Given the description of an element on the screen output the (x, y) to click on. 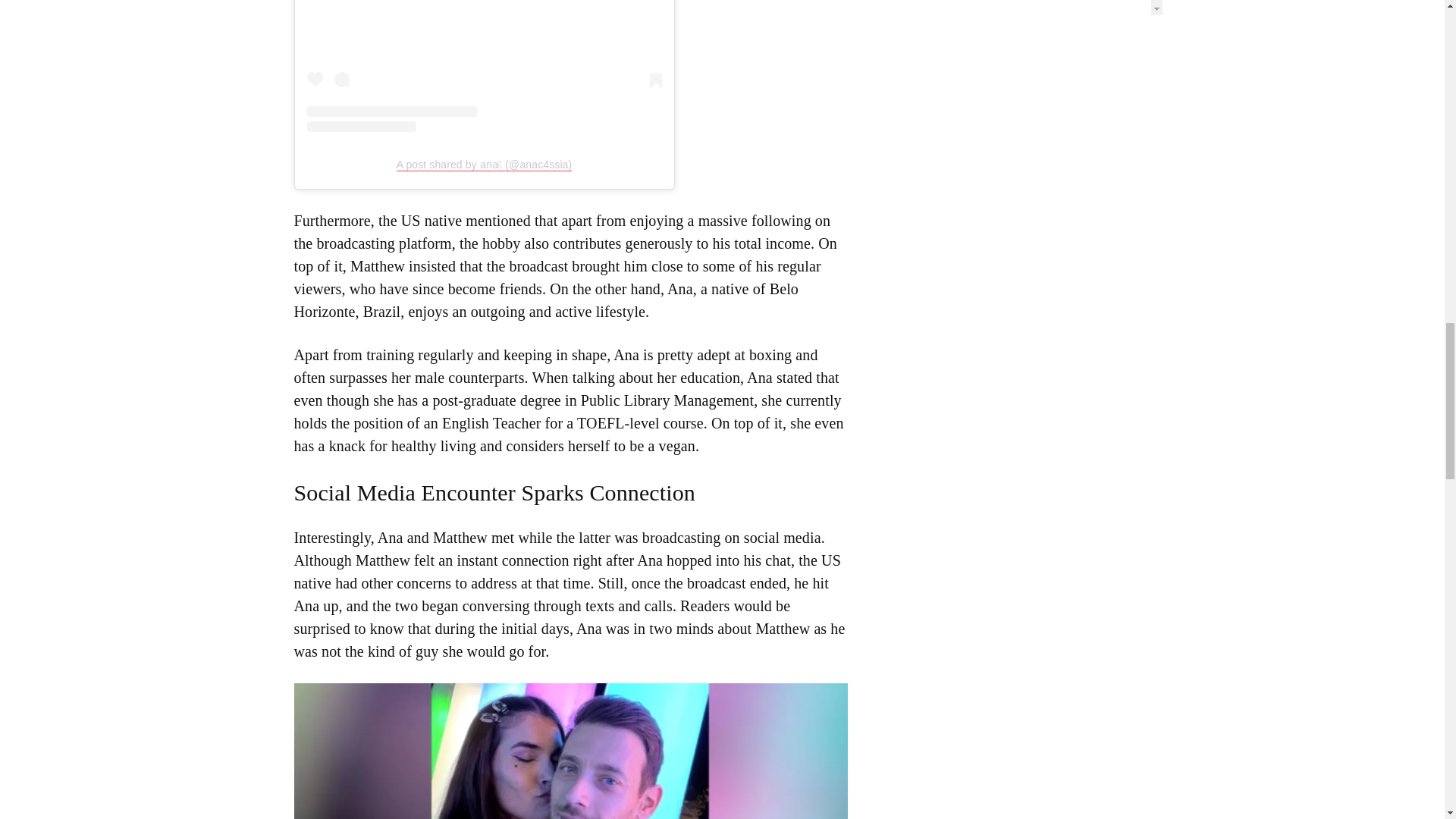
View this post on Instagram (483, 65)
